Given the description of an element on the screen output the (x, y) to click on. 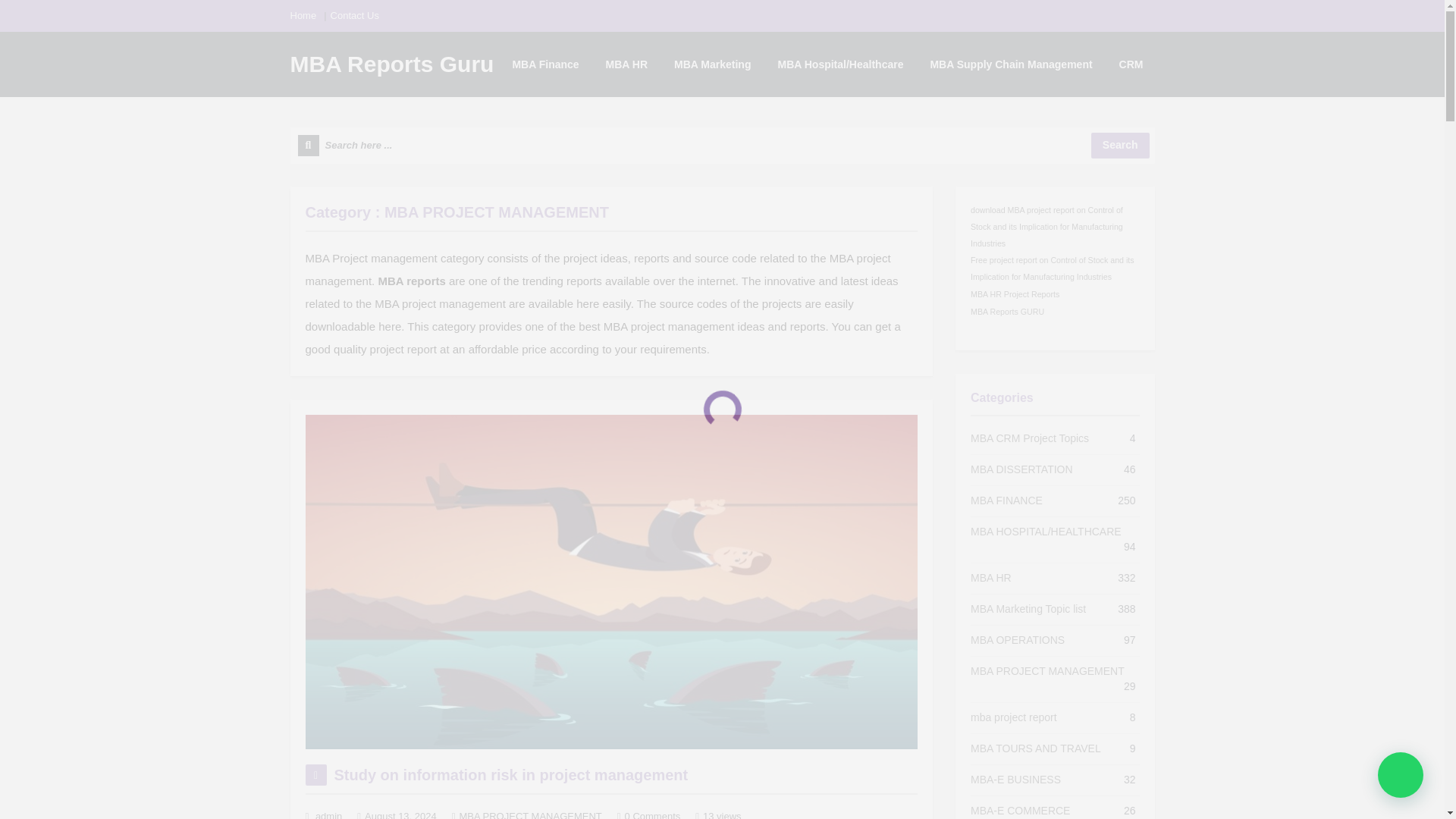
Study on information risk in project management (510, 774)
MBA Finance (544, 63)
MBA Reports Guru (391, 63)
MBA HR (626, 63)
MBA Reports Guru (391, 63)
Search here ... (721, 145)
CRM (1131, 63)
MBA Supply Chain Management (1010, 63)
MBA PROJECT MANAGEMENT (531, 814)
